Given the description of an element on the screen output the (x, y) to click on. 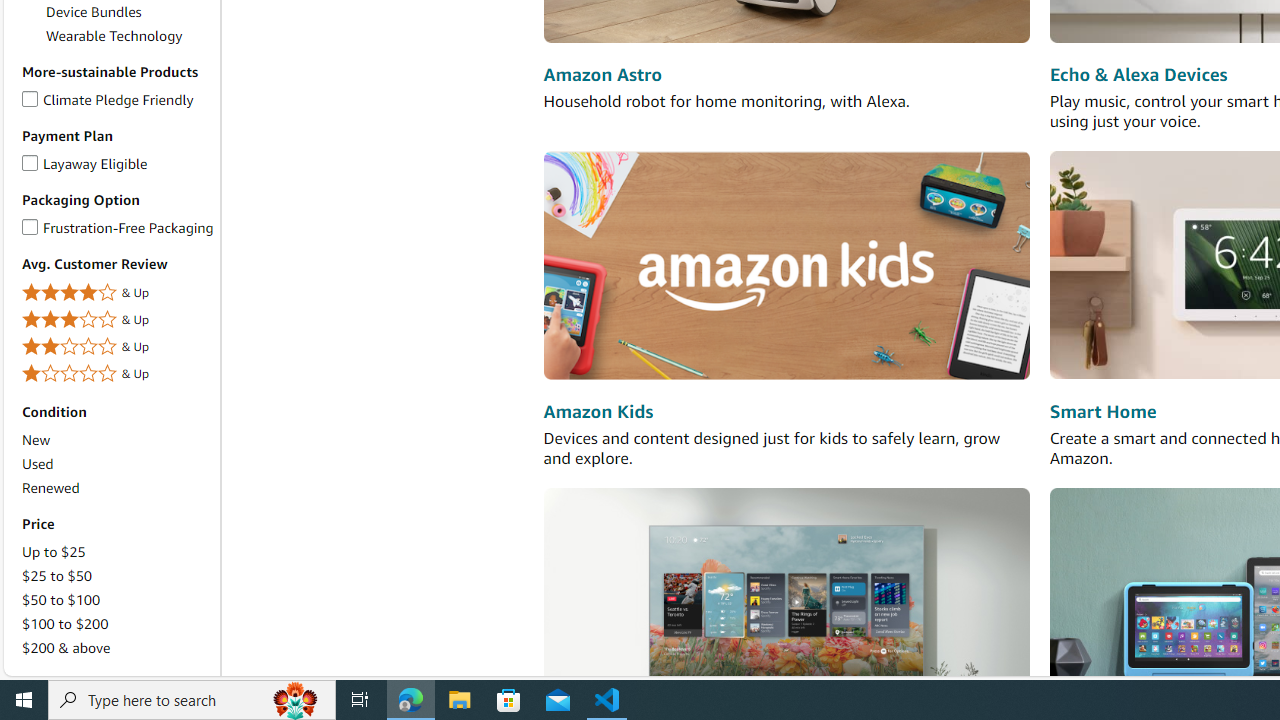
$50 to $100 (117, 599)
Used (37, 464)
$100 to $200 (64, 623)
Amazon Astro (601, 75)
New (36, 440)
Up to $25 (117, 552)
$100 to $200 (117, 624)
Amazon Kids (598, 411)
$50 to $100 (61, 600)
$200 & above (66, 647)
Device Bundles (94, 11)
Renewed (117, 488)
Up to $25 (53, 551)
2 Stars & Up (117, 346)
Smart Home (1103, 411)
